Given the description of an element on the screen output the (x, y) to click on. 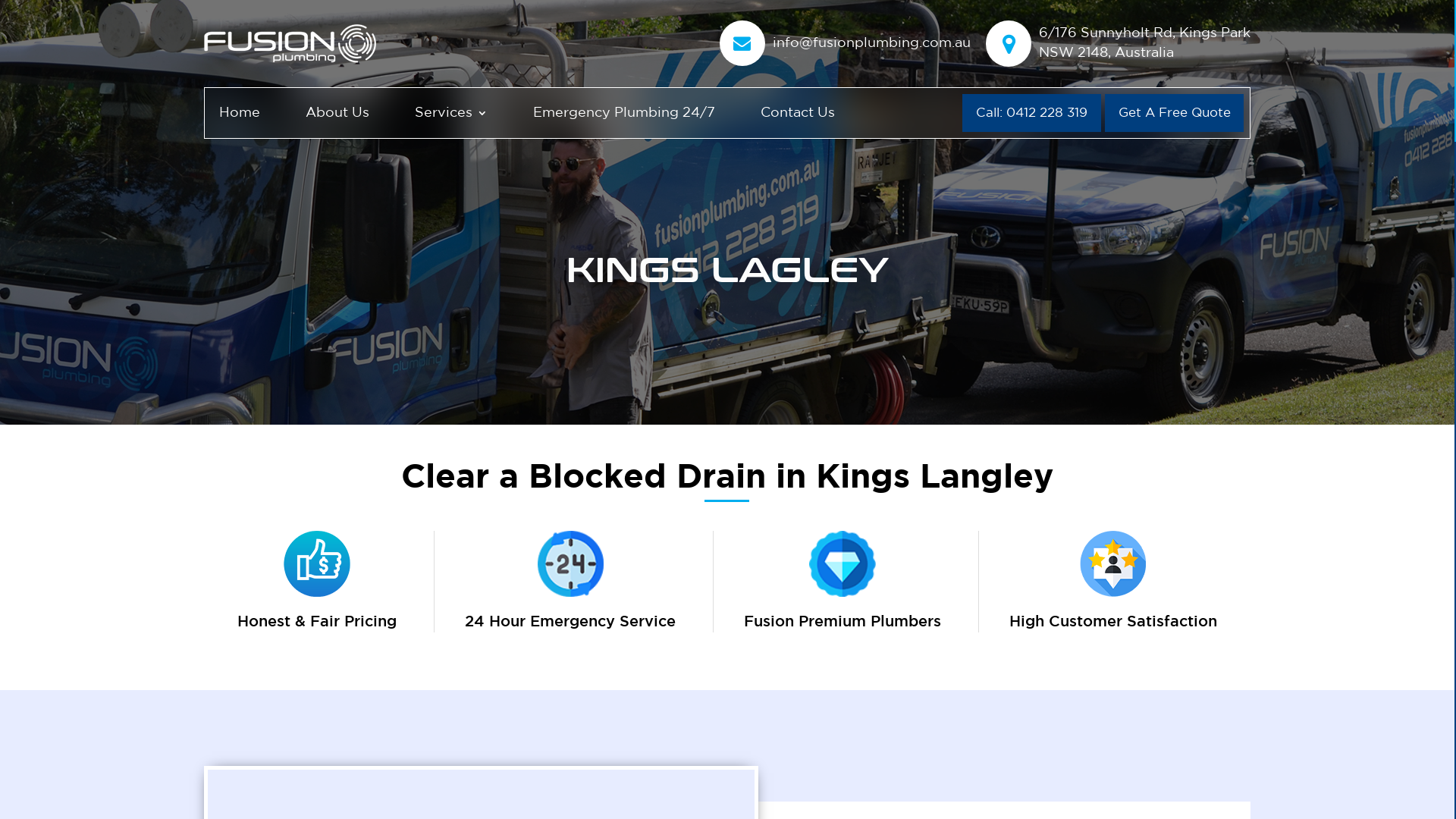
header_logo Element type: hover (289, 43)
Emergency Plumbing 24/7 Element type: text (624, 115)
Services Element type: text (450, 115)
Home Element type: text (239, 115)
Fusion Premium Plumbers Element type: text (842, 626)
24 Hour Emergency Service Element type: text (569, 626)
Honest & Fair Pricing Element type: text (316, 626)
High Customer Satisfaction Element type: text (1113, 626)
info@fusionplumbing.com.au Element type: text (871, 42)
Contact Us Element type: text (797, 115)
About Us Element type: text (337, 115)
Get A Free Quote Element type: text (1173, 112)
Call: 0412 228 319 Element type: text (1031, 112)
6/176 Sunnyholt Rd, Kings Park
NSW 2148, Australia Element type: text (1144, 43)
